Given the description of an element on the screen output the (x, y) to click on. 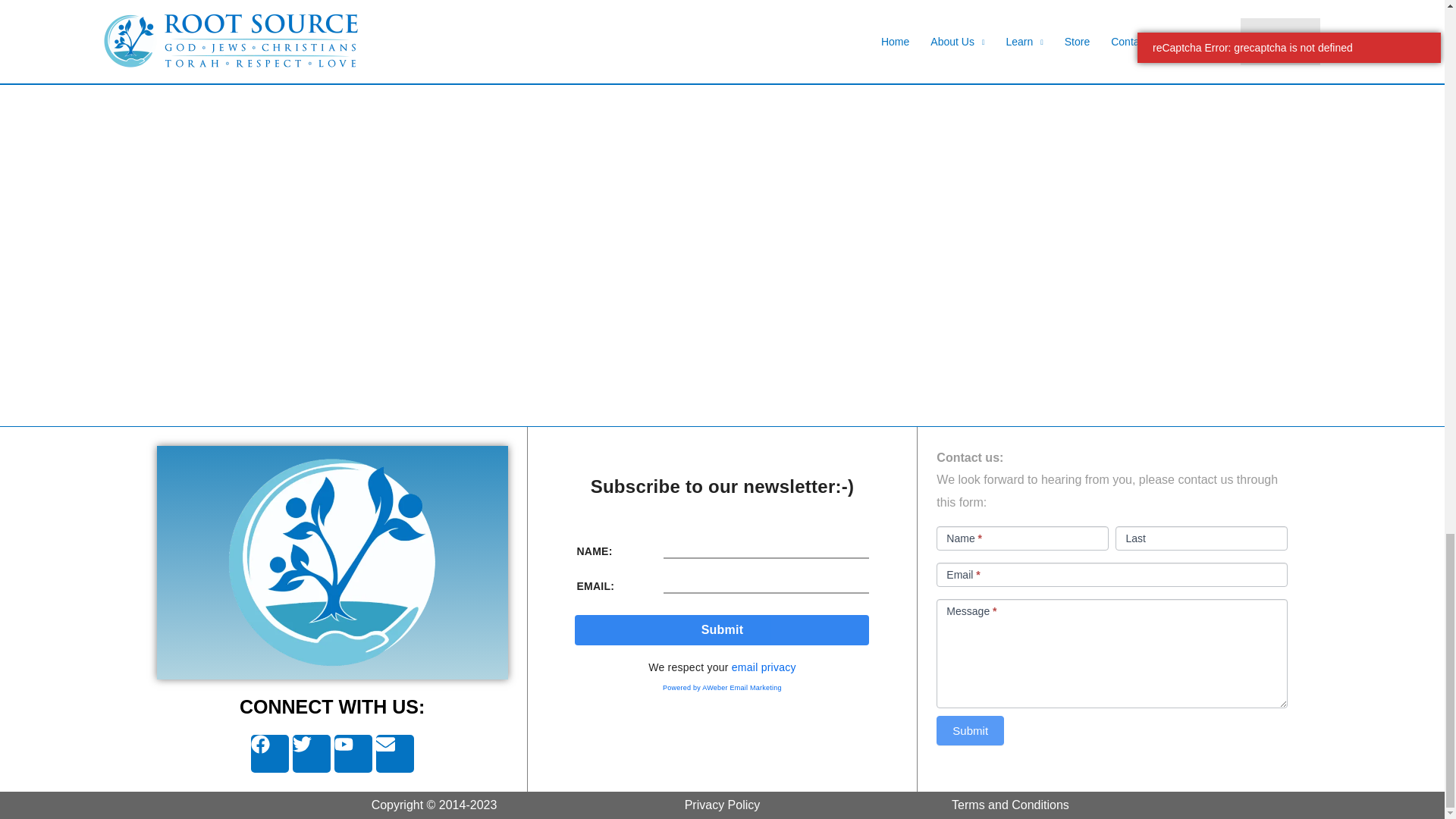
Submit (722, 630)
